Given the description of an element on the screen output the (x, y) to click on. 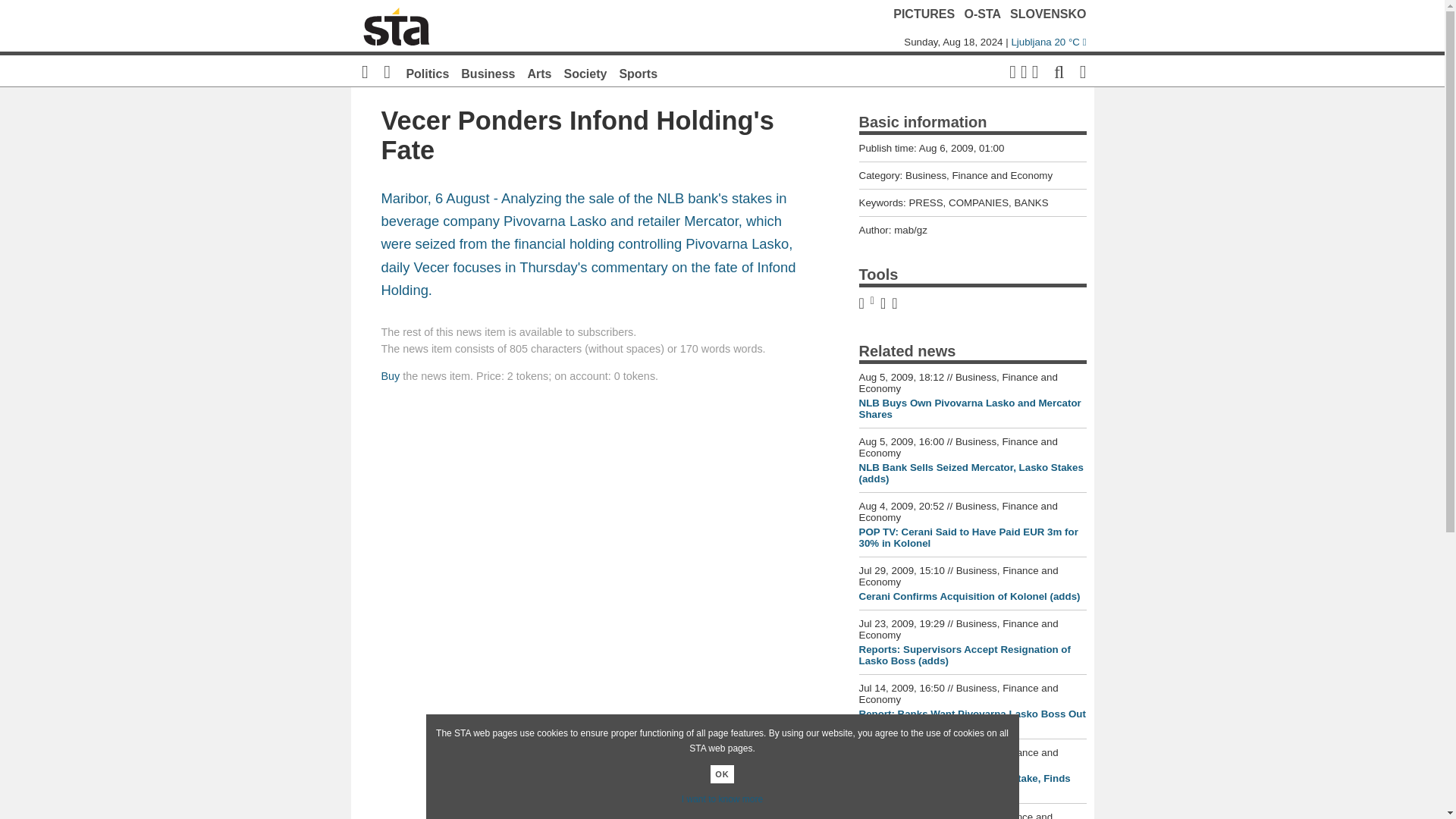
Sports (638, 73)
O-STA (982, 13)
Society (585, 73)
Politics (427, 73)
Arts (539, 73)
NLB Buys Own Pivovarna Lasko and Mercator Shares (969, 408)
PICTURES (924, 13)
Business (488, 73)
Buy (389, 376)
